Given the description of an element on the screen output the (x, y) to click on. 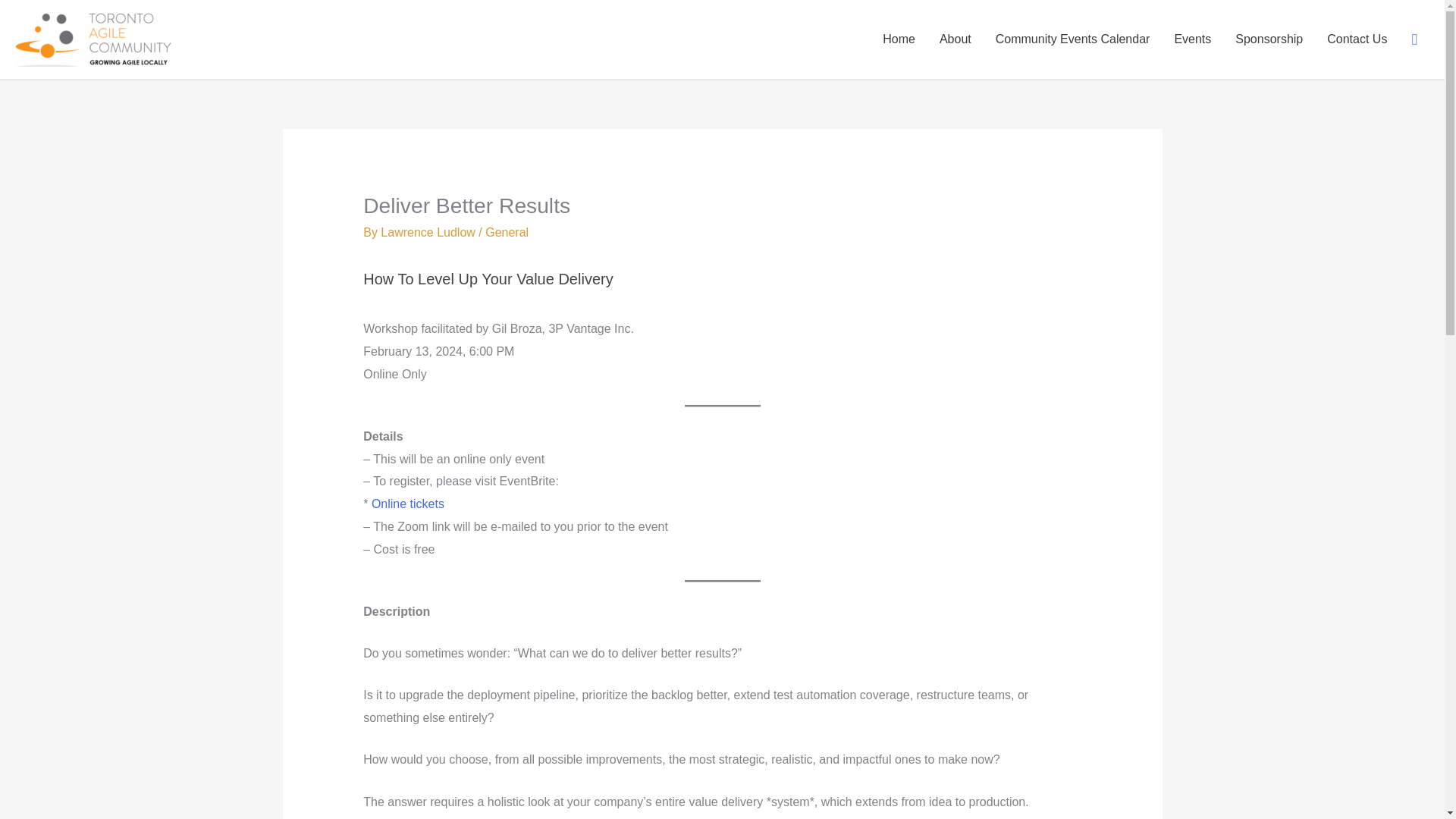
Contact Us (1356, 39)
View all posts by Lawrence Ludlow (429, 232)
General (506, 232)
Lawrence Ludlow (429, 232)
Community Events Calendar (1072, 39)
Online tickets (407, 503)
Sponsorship (1268, 39)
